Given the description of an element on the screen output the (x, y) to click on. 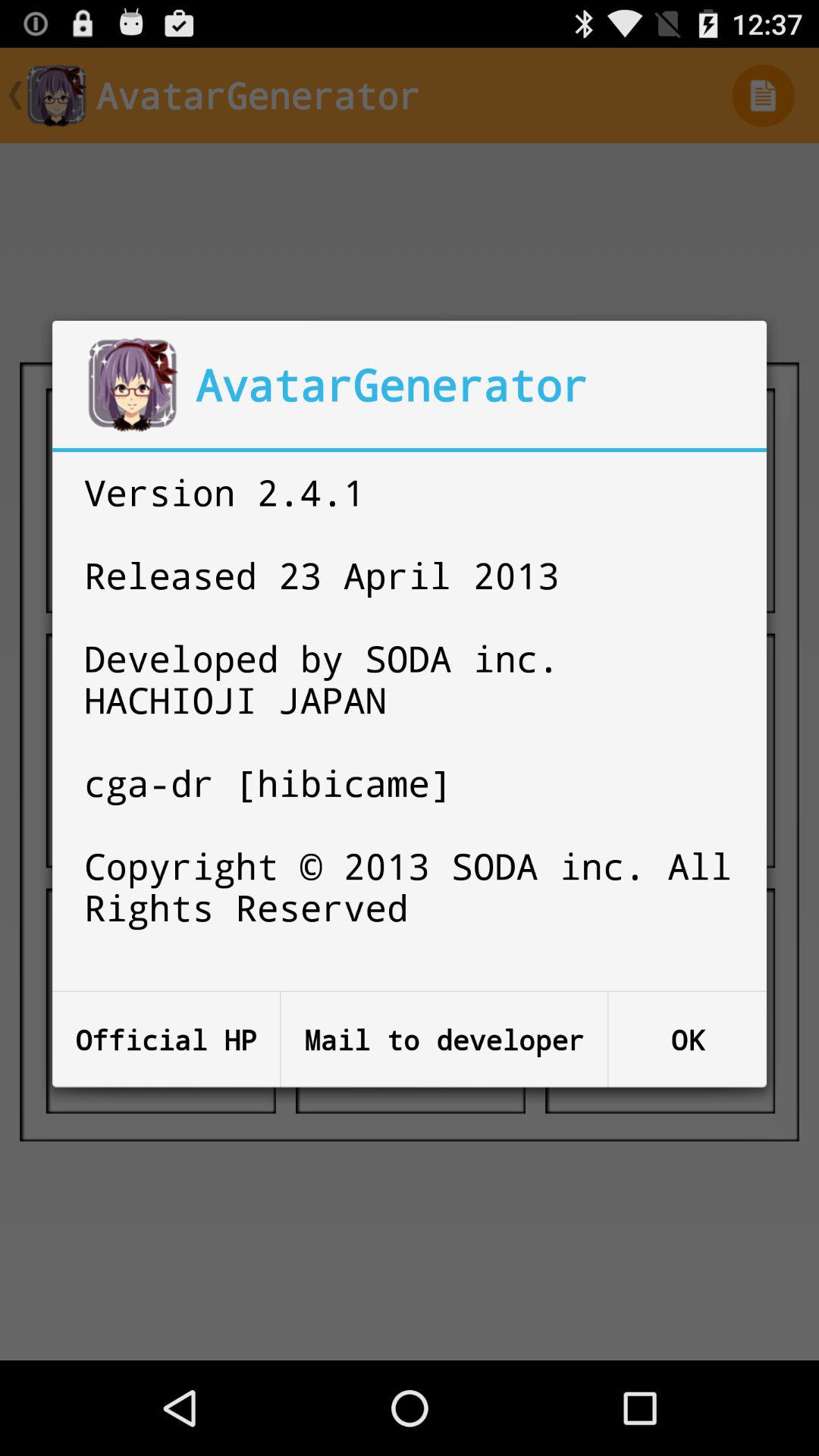
launch icon at the bottom left corner (165, 1039)
